Given the description of an element on the screen output the (x, y) to click on. 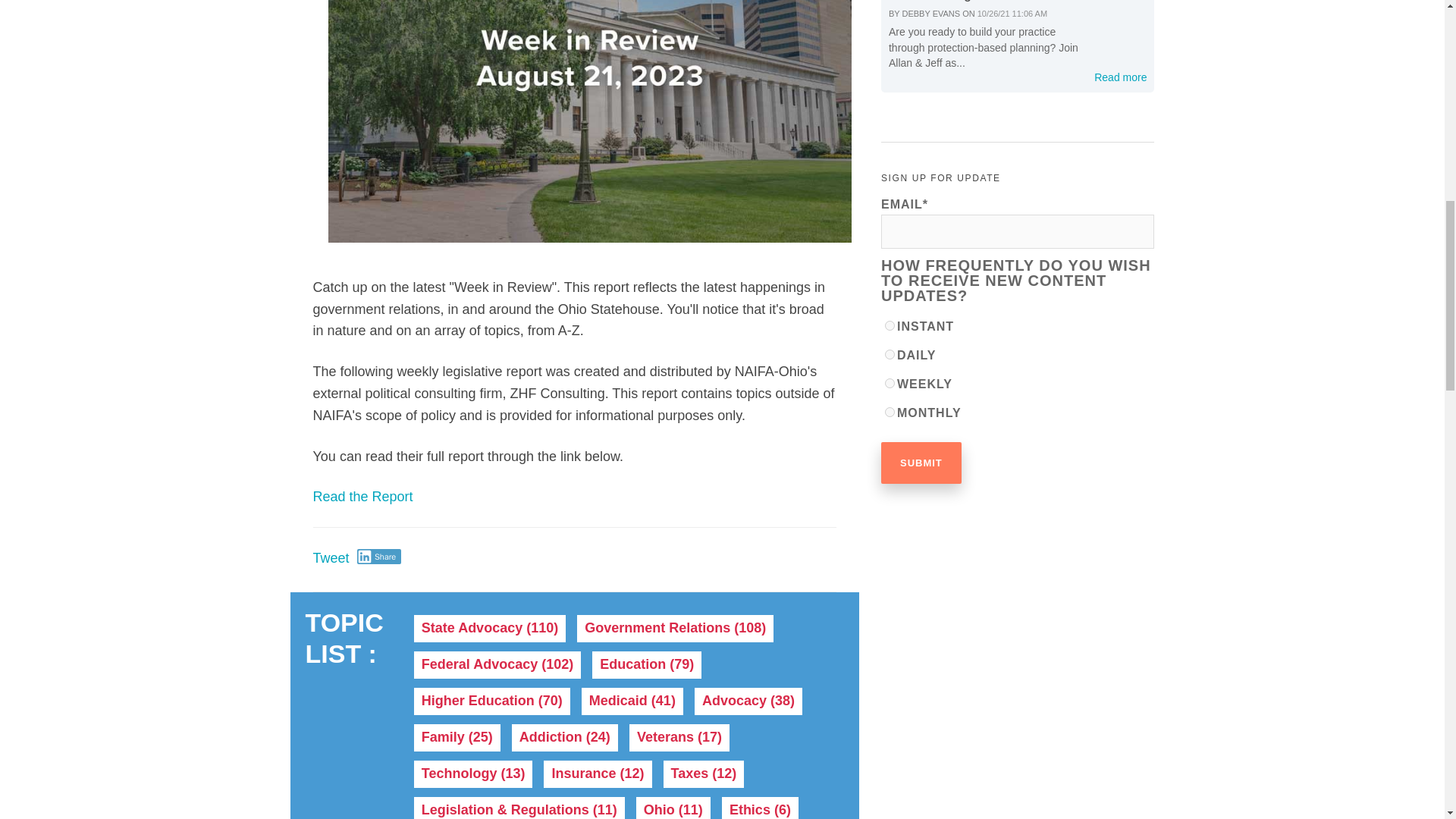
instant (890, 325)
monthly (890, 411)
Submit (920, 463)
weekly (890, 383)
daily (890, 354)
